Given the description of an element on the screen output the (x, y) to click on. 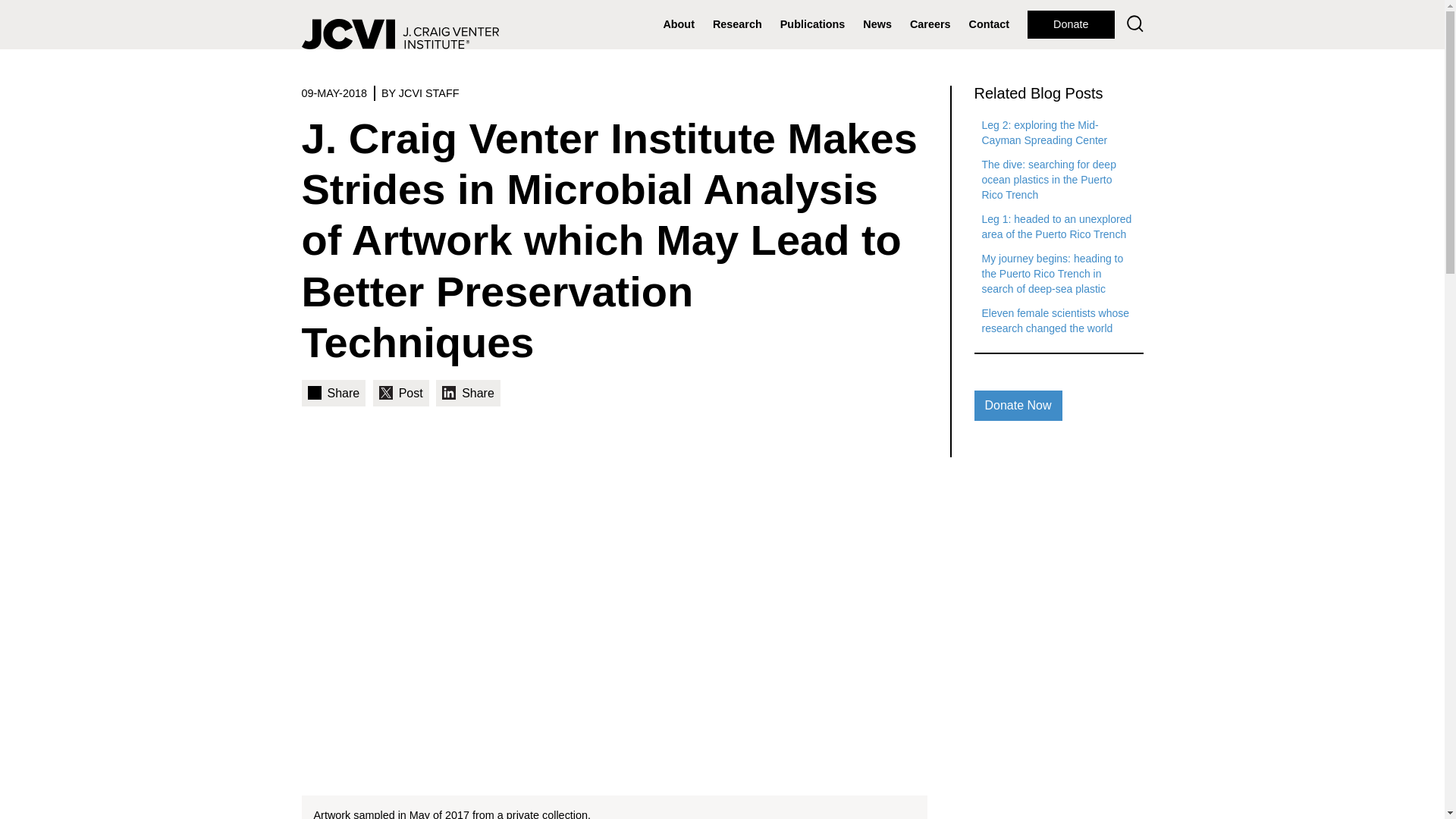
About (678, 24)
Publications (812, 24)
Eleven female scientists whose research changed the world (1055, 320)
News (877, 24)
Contact (989, 24)
Research (737, 24)
Careers (930, 24)
Leg 2: exploring the Mid-Cayman Spreading Center (1043, 132)
Donate Now (1017, 405)
Donate (1070, 24)
